Given the description of an element on the screen output the (x, y) to click on. 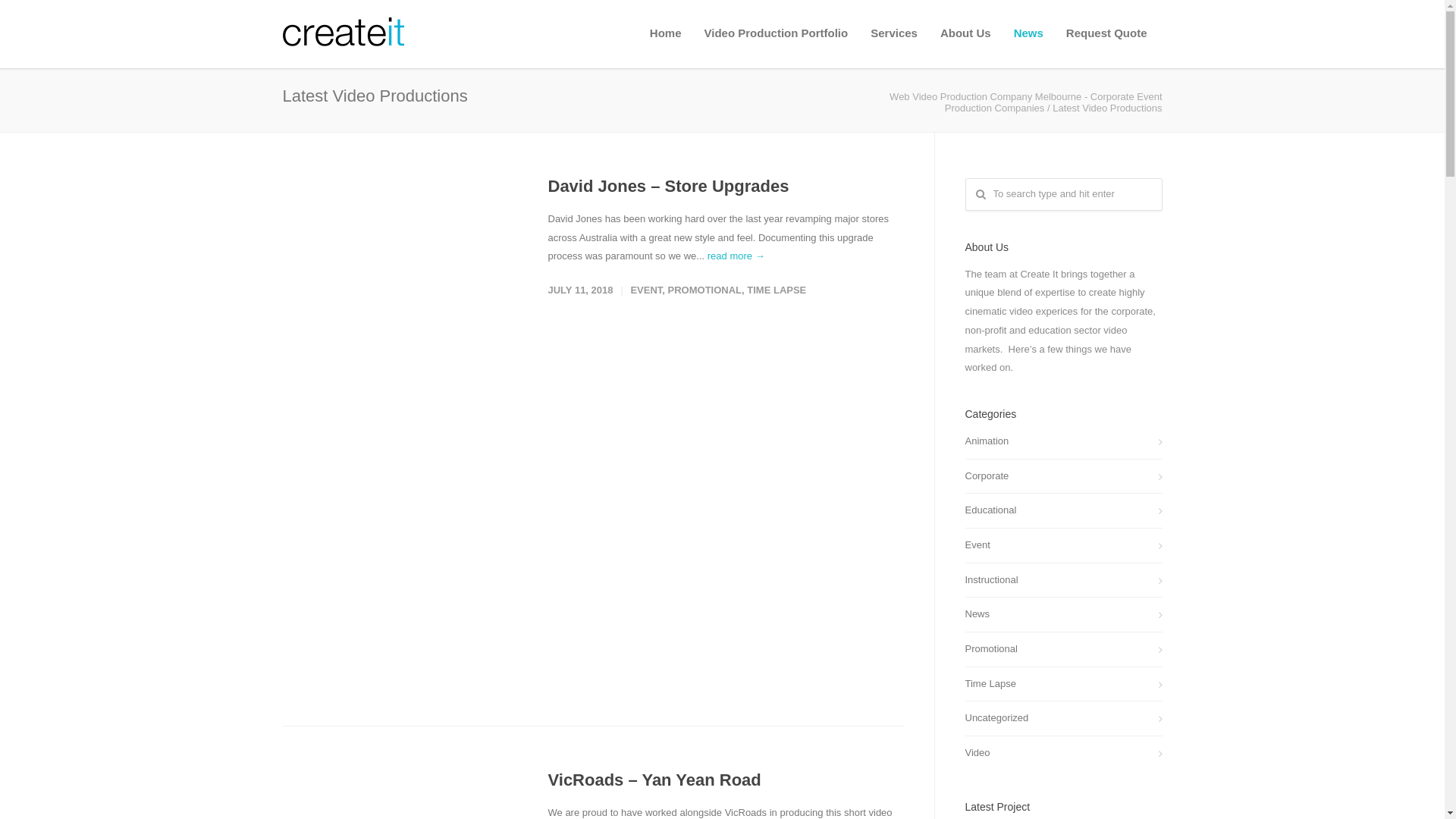
Promotional Element type: text (1062, 649)
EVENT Element type: text (646, 289)
Home Element type: text (665, 32)
Uncategorized Element type: text (1062, 718)
Video Element type: text (1062, 752)
David Jones - West Lakes Element type: hover (399, 425)
Request Quote Element type: text (1106, 32)
Search Element type: text (39, 16)
Animation Element type: text (1062, 441)
Video Production Portfolio Element type: text (775, 32)
News Element type: text (1062, 614)
Educational Element type: text (1062, 510)
Services Element type: text (893, 32)
News Element type: text (1028, 32)
Event Element type: text (1062, 545)
Time Lapse Element type: text (1062, 683)
Instructional Element type: text (1062, 580)
About Us Element type: text (965, 32)
Corporate Element type: text (1062, 476)
TIME LAPSE Element type: text (776, 289)
PROMOTIONAL Element type: text (705, 289)
